Given the description of an element on the screen output the (x, y) to click on. 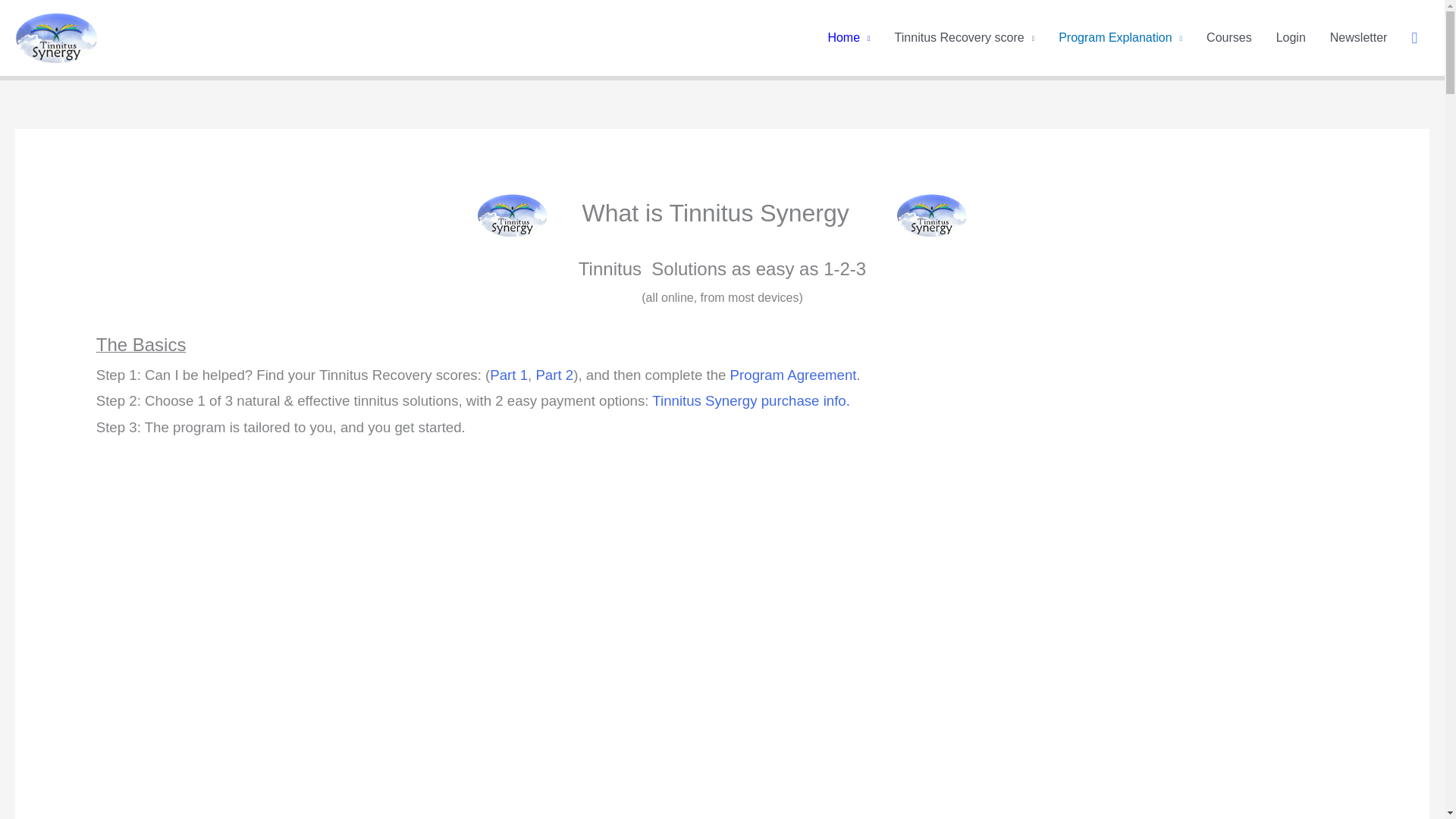
Tinnitus Recovery score (964, 38)
Courses (1228, 38)
Program Explanation (1119, 38)
Newsletter (1358, 38)
